Given the description of an element on the screen output the (x, y) to click on. 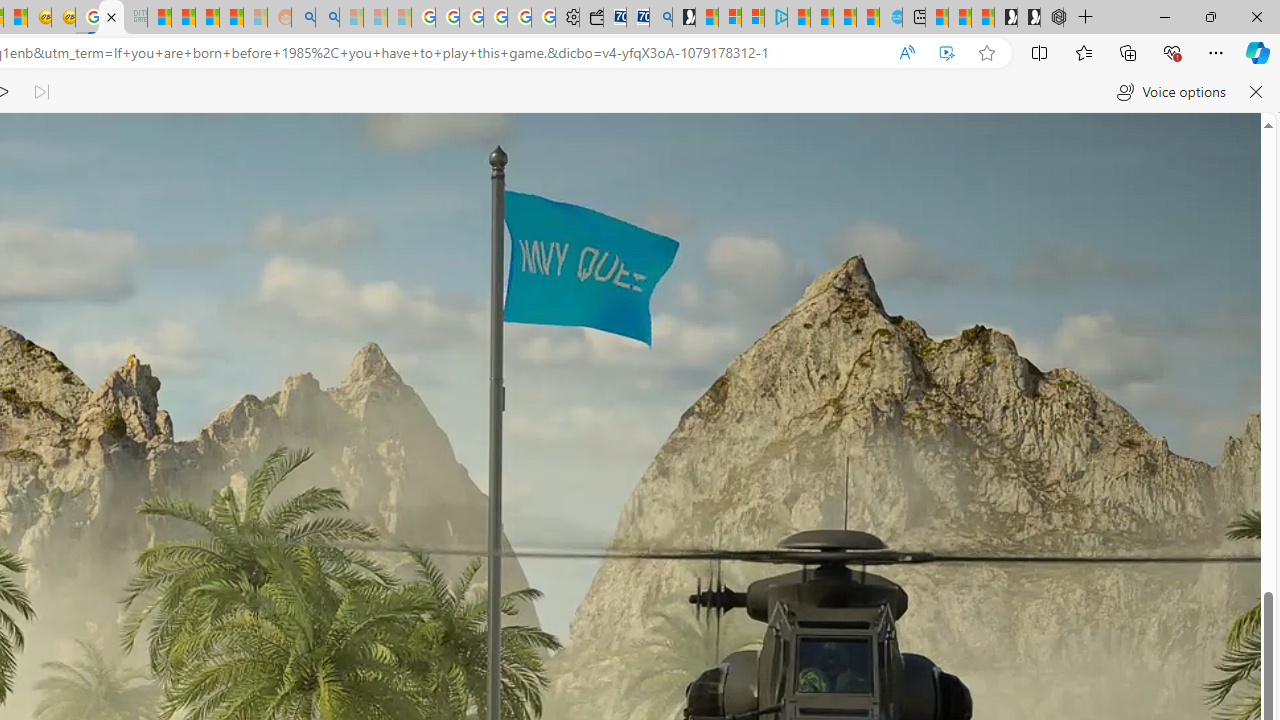
Home | Sky Blue Bikes - Sky Blue Bikes (890, 17)
Close read aloud (1255, 92)
